Given the description of an element on the screen output the (x, y) to click on. 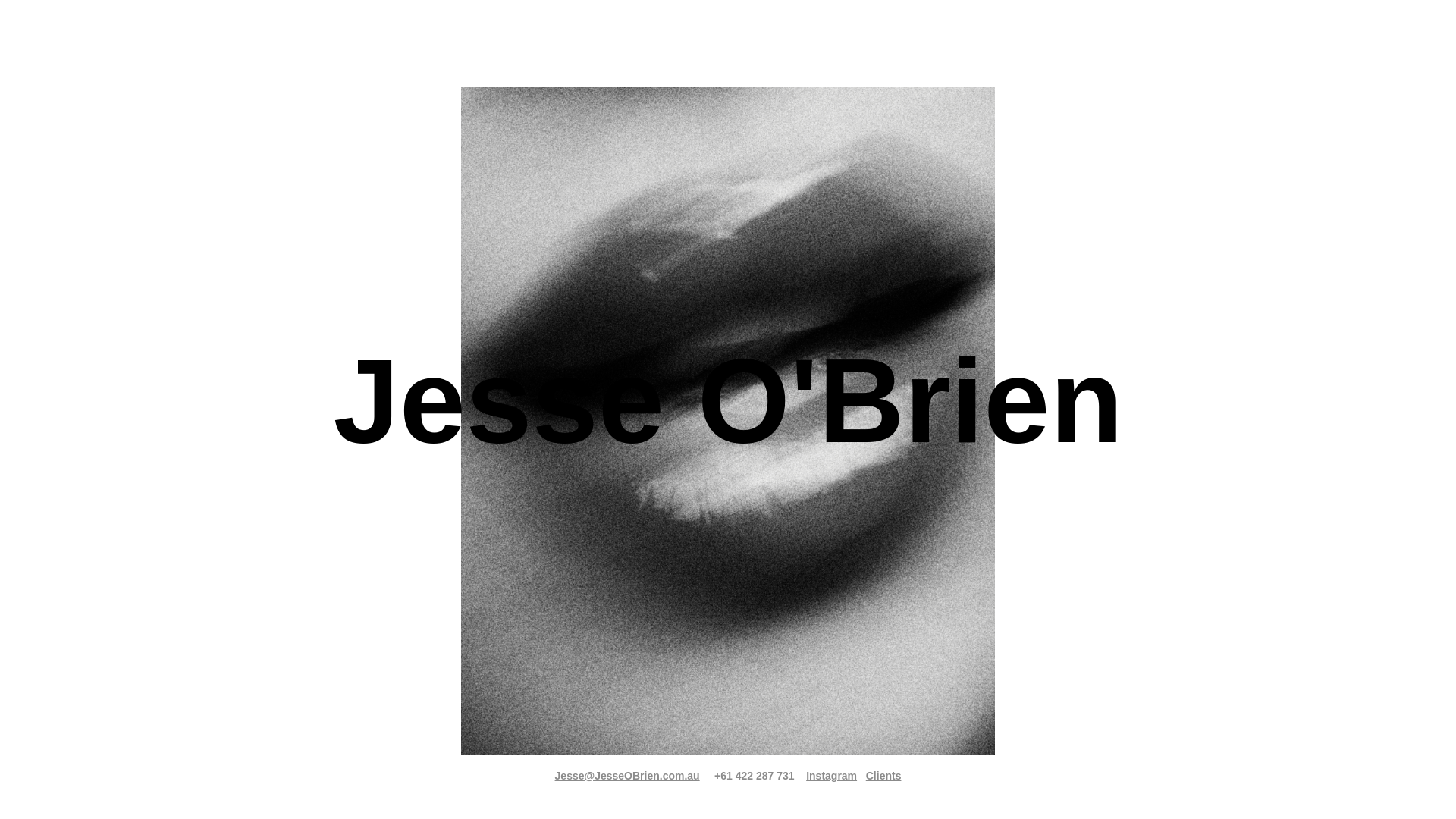
Instagram Element type: text (831, 775)
Jesse@JesseOBrien.com.au Element type: text (627, 775)
Clients Element type: text (883, 775)
